Given the description of an element on the screen output the (x, y) to click on. 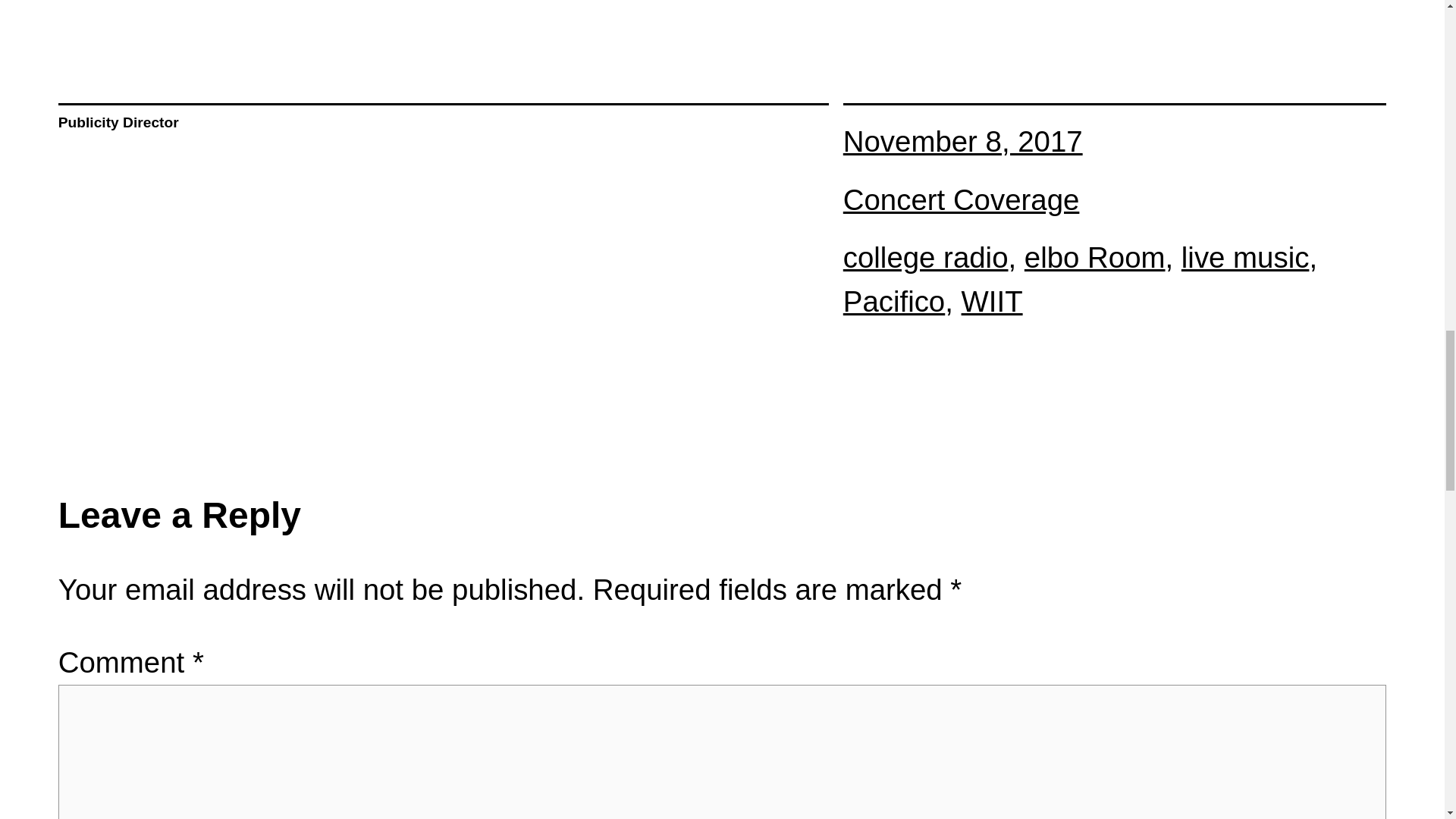
live music (1244, 256)
WIIT (991, 301)
Pacifico (893, 301)
elbo Room (1095, 256)
Concert Coverage (961, 199)
November 8, 2017 (963, 141)
college radio (926, 256)
